Given the description of an element on the screen output the (x, y) to click on. 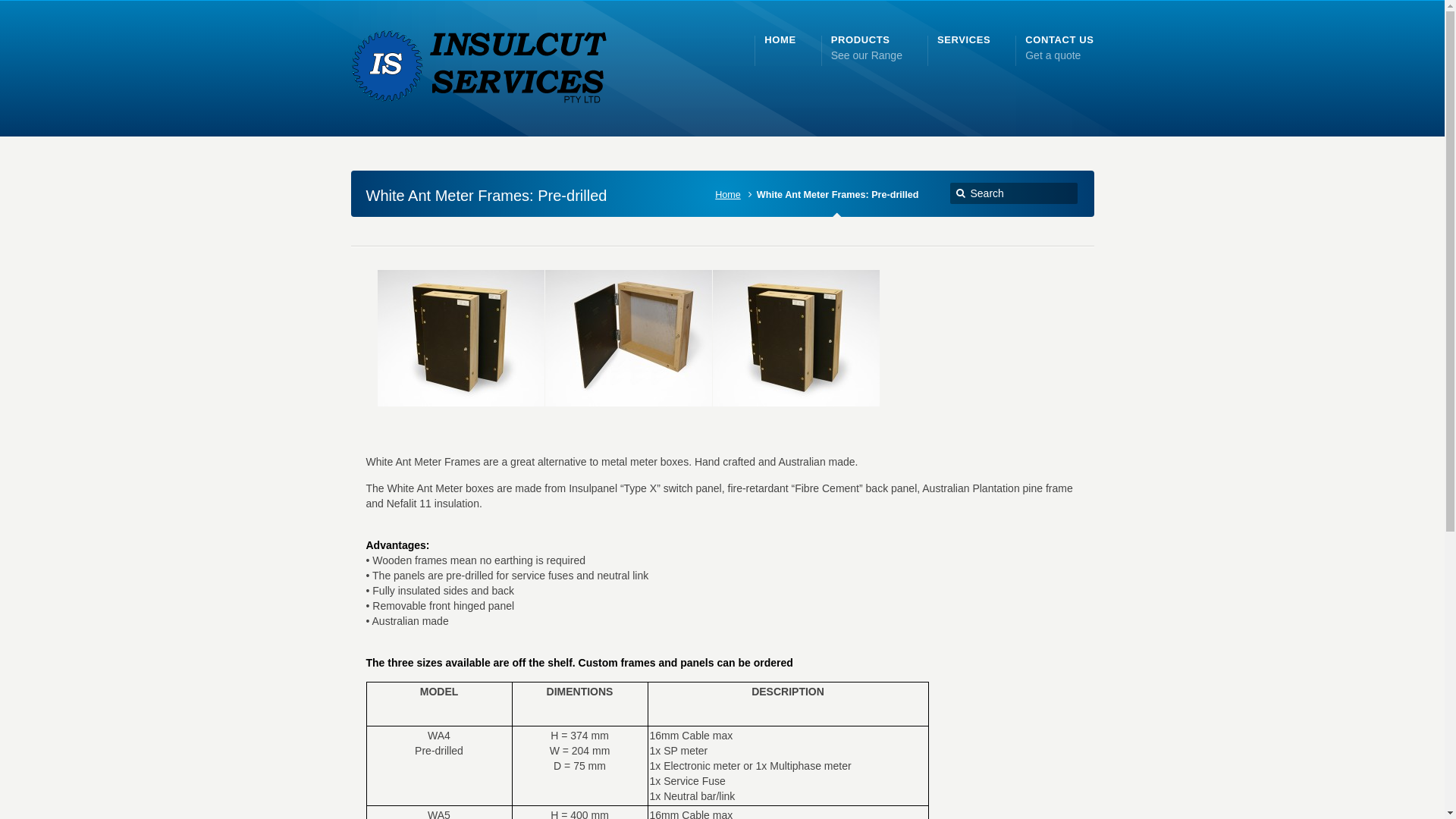
SERVICES Element type: text (963, 39)
whiteAnt-2 Element type: hover (795, 337)
Home Element type: text (730, 194)
HOME Element type: text (779, 39)
whiteAnt-3 Element type: hover (627, 337)
whiteAnt-2 Element type: hover (460, 337)
PRODUCTS
See our Range Element type: text (866, 46)
CONTACT US
Get a quote Element type: text (1059, 46)
search Element type: text (960, 194)
